Given the description of an element on the screen output the (x, y) to click on. 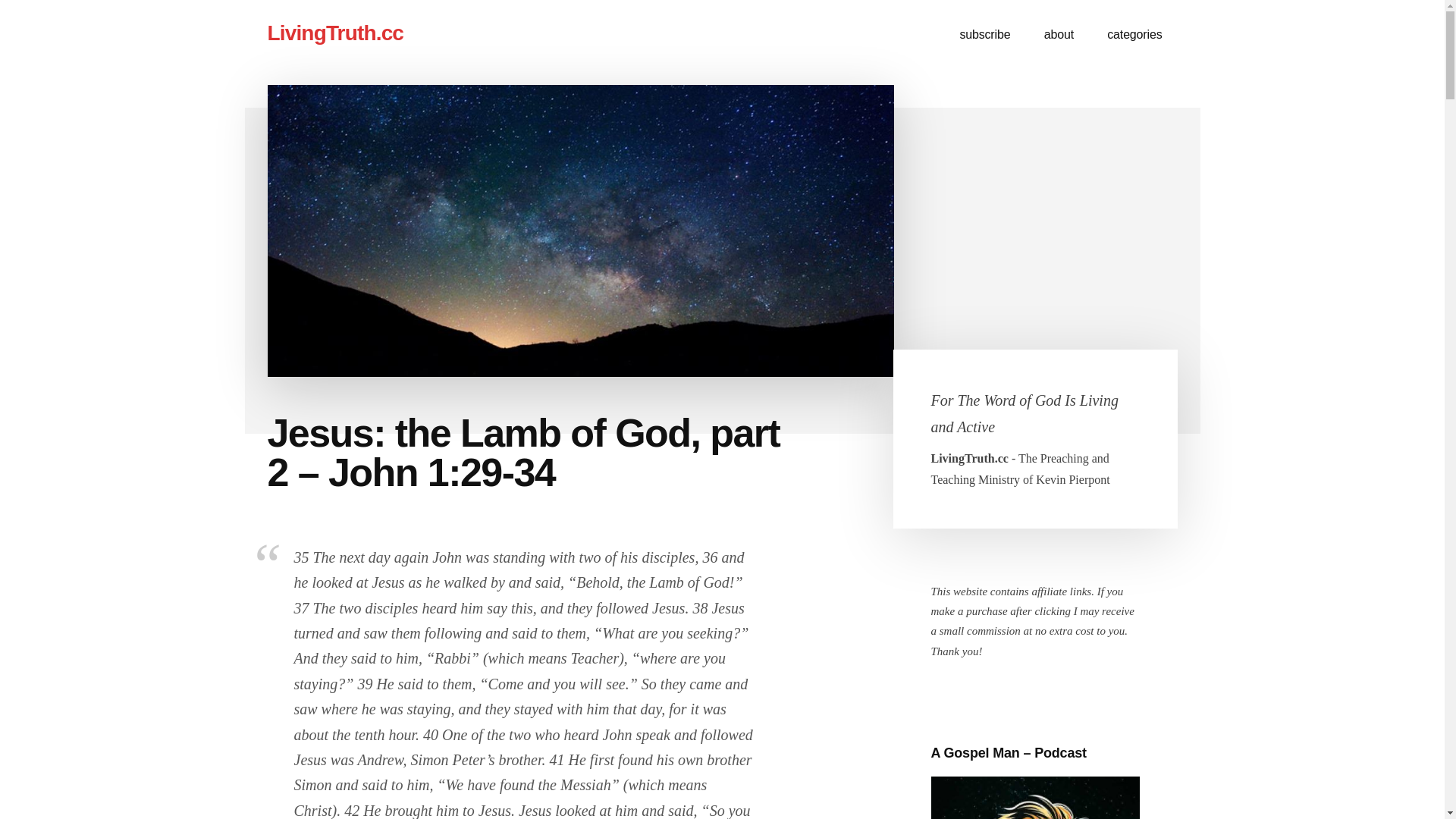
about (1059, 34)
subscribe (984, 34)
LivingTruth.cc (334, 33)
categories (1134, 34)
